Given the description of an element on the screen output the (x, y) to click on. 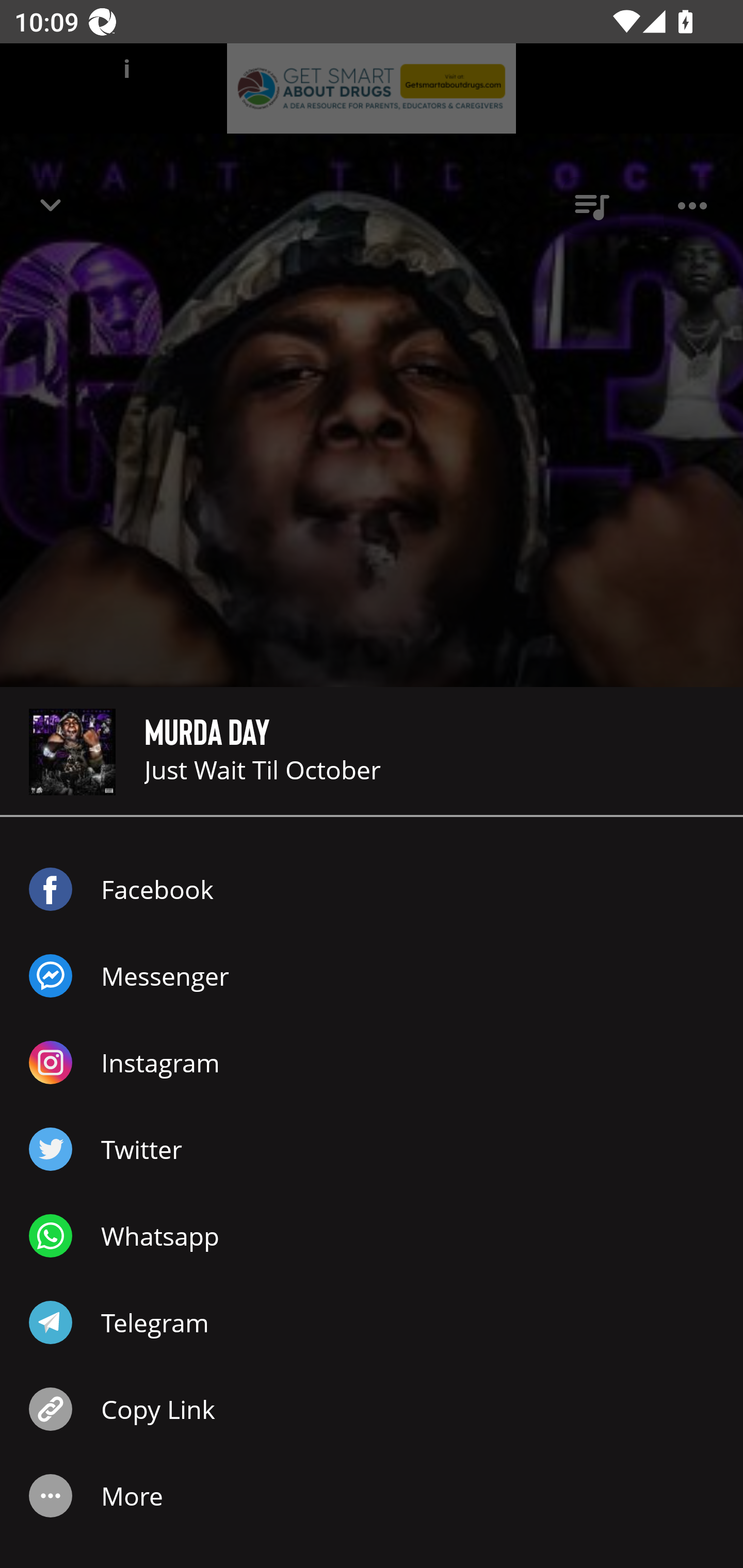
Facebook (371, 888)
Messenger (371, 975)
Instagram (371, 1062)
Twitter (371, 1149)
Whatsapp (371, 1236)
Telegram (371, 1322)
Copy Link (371, 1408)
More (371, 1495)
